Given the description of an element on the screen output the (x, y) to click on. 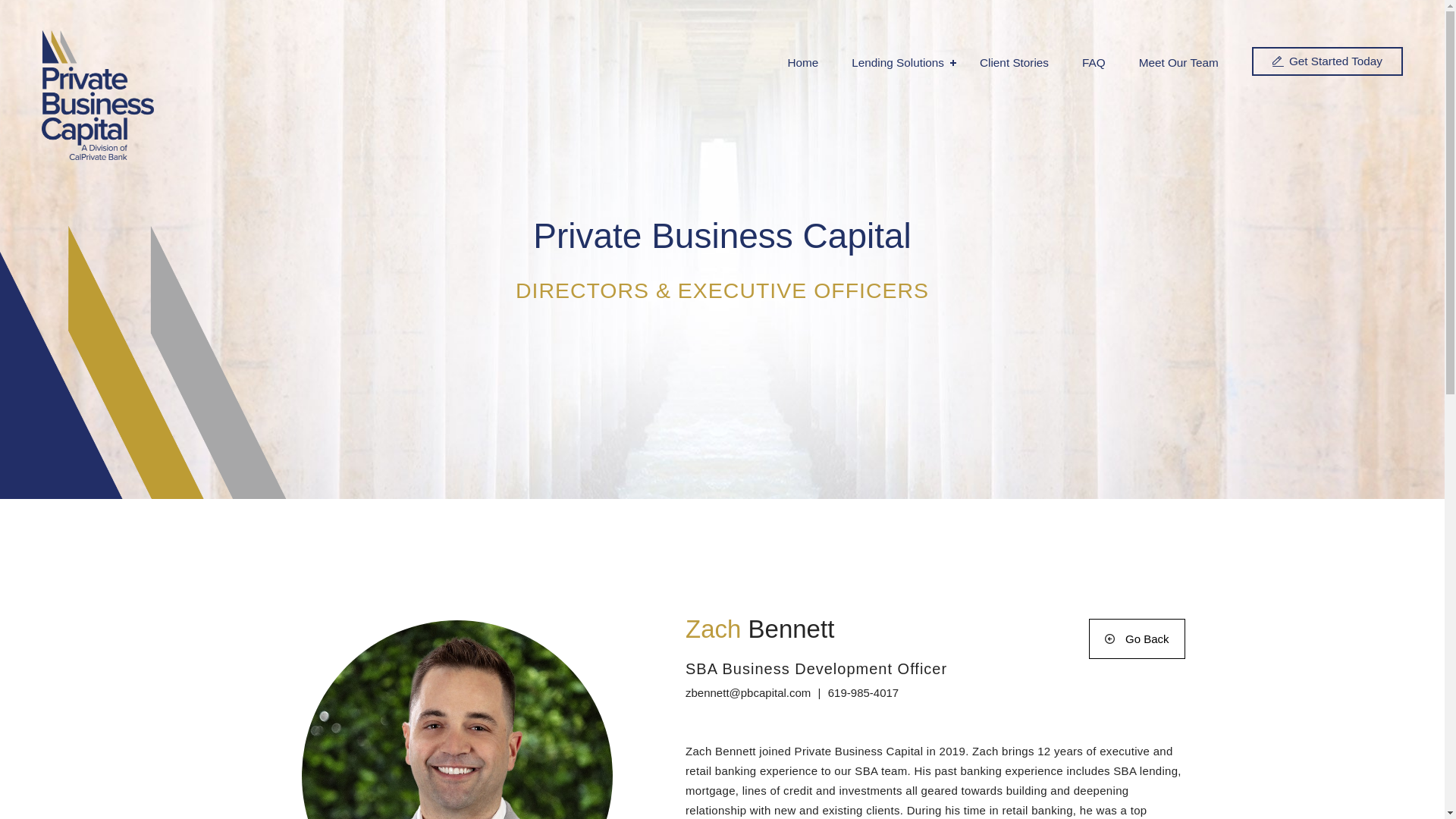
Client Stories (1013, 62)
Home (802, 62)
Get Started Today (1327, 61)
FAQ (1093, 62)
Lending Solutions (897, 62)
Meet Our Team (1178, 62)
619-985-4017 (863, 692)
Go Back (1137, 639)
